Given the description of an element on the screen output the (x, y) to click on. 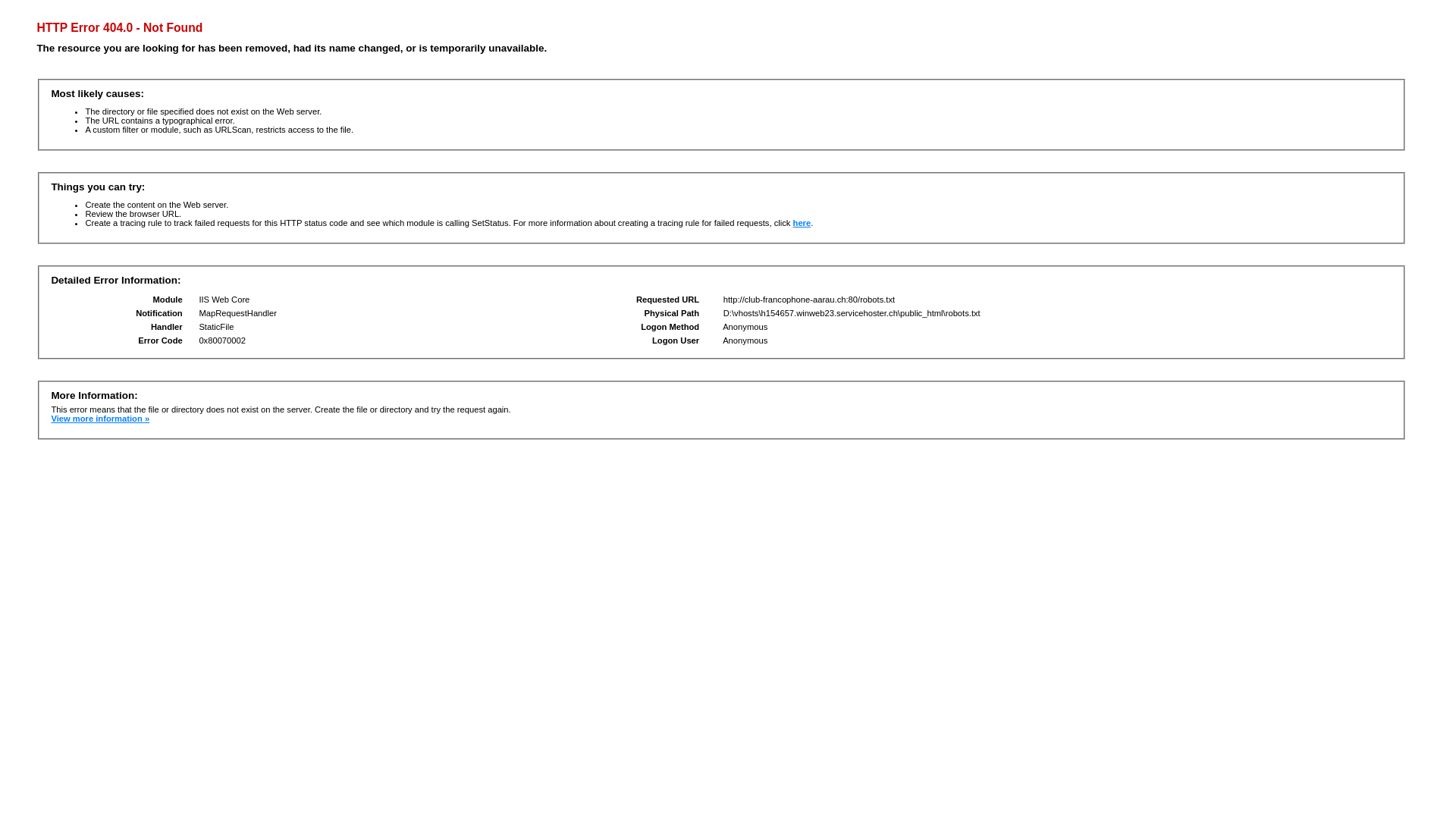
here Element type: text (802, 222)
